Given the description of an element on the screen output the (x, y) to click on. 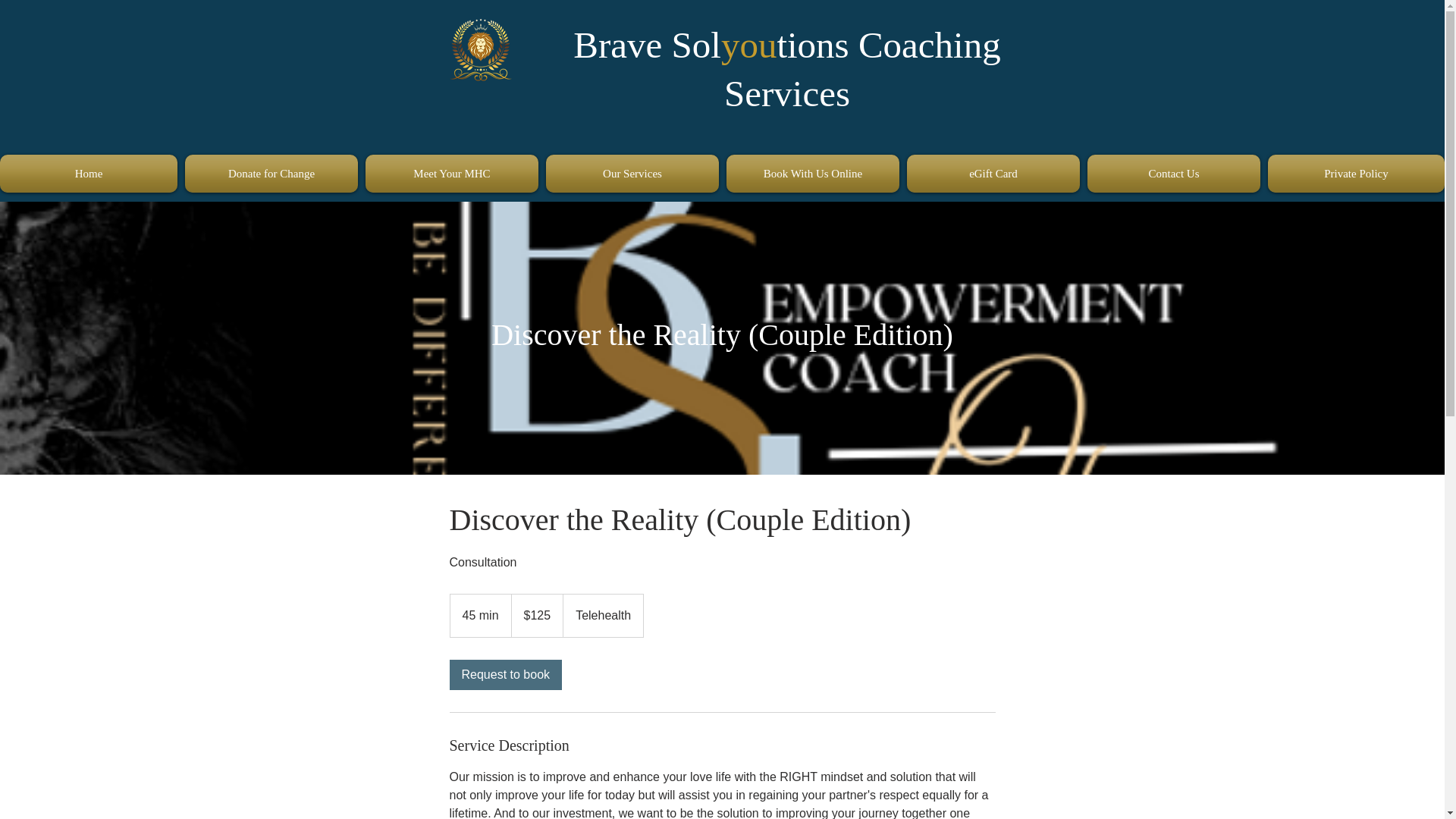
Home (90, 173)
eGift Card (992, 173)
Request to book (505, 675)
Meet Your MHC (451, 173)
Our Services (631, 173)
Contact Us (1173, 173)
Donate for Change (270, 173)
Book With Us Online (812, 173)
